Given the description of an element on the screen output the (x, y) to click on. 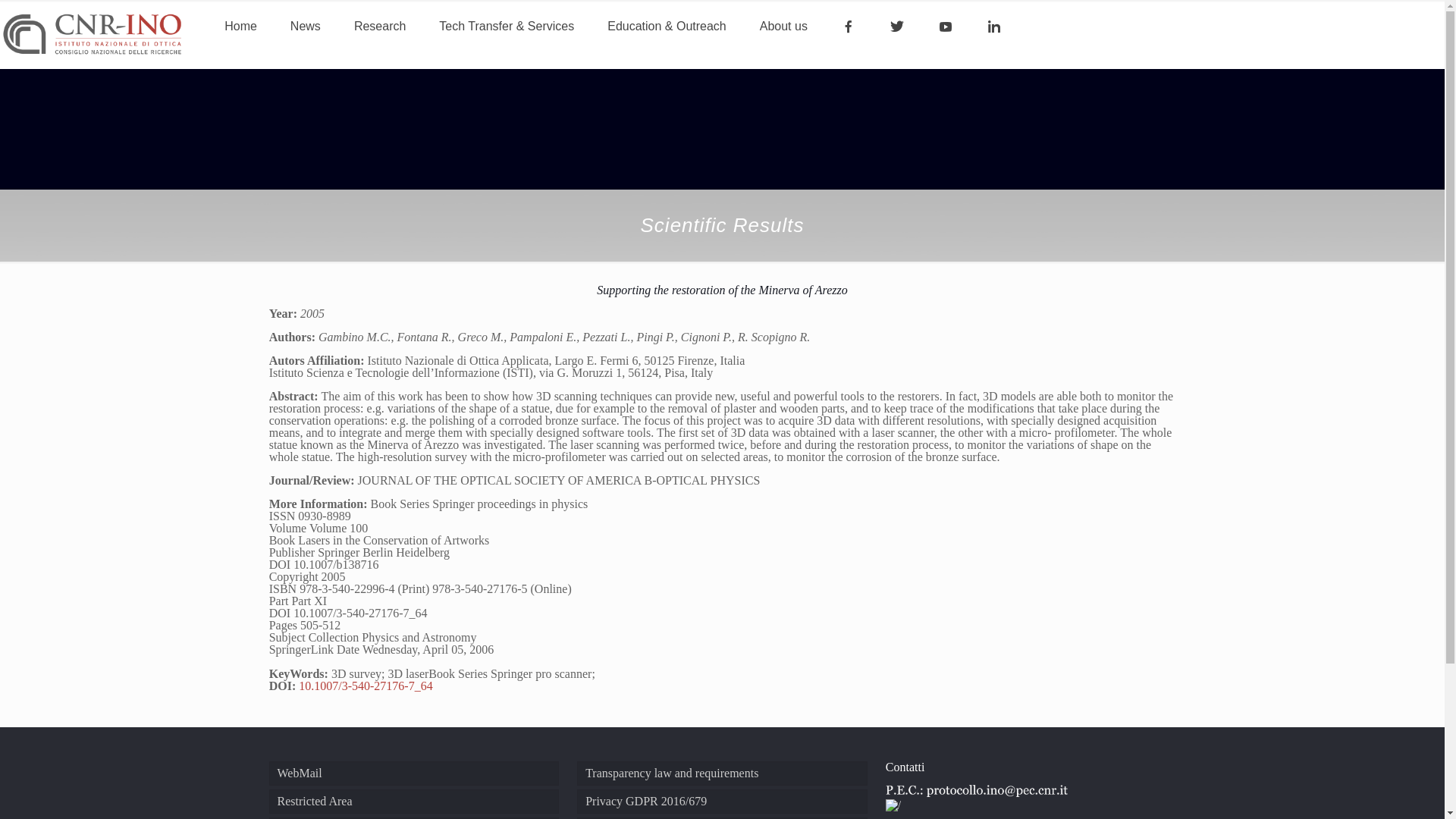
Home (240, 26)
Research (379, 26)
News (305, 26)
